Given the description of an element on the screen output the (x, y) to click on. 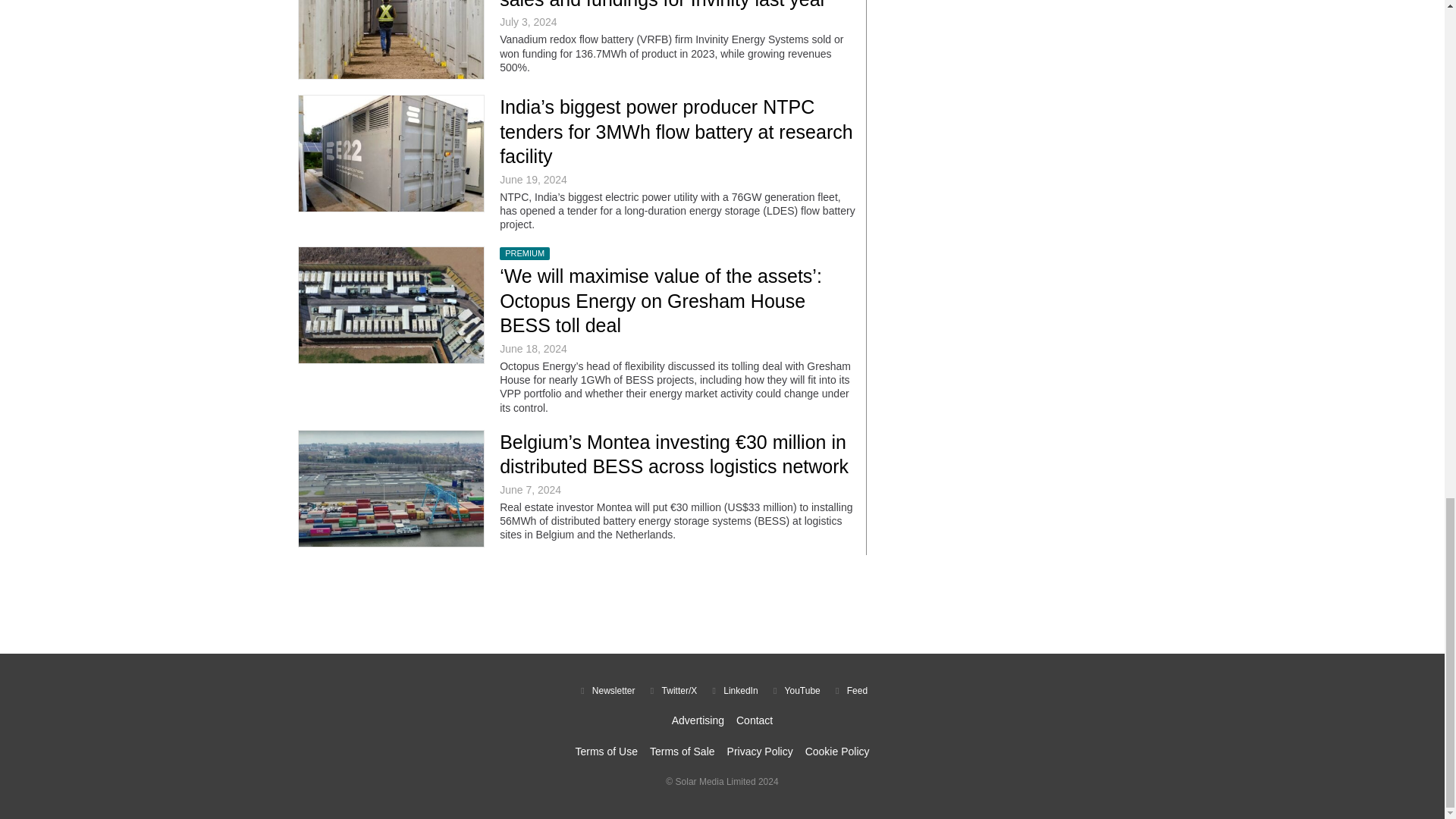
Montea (390, 488)
invinity chappice lake stacks (390, 39)
E22-india-vanadium-battery (390, 153)
3rd party ad content (721, 604)
